Given the description of an element on the screen output the (x, y) to click on. 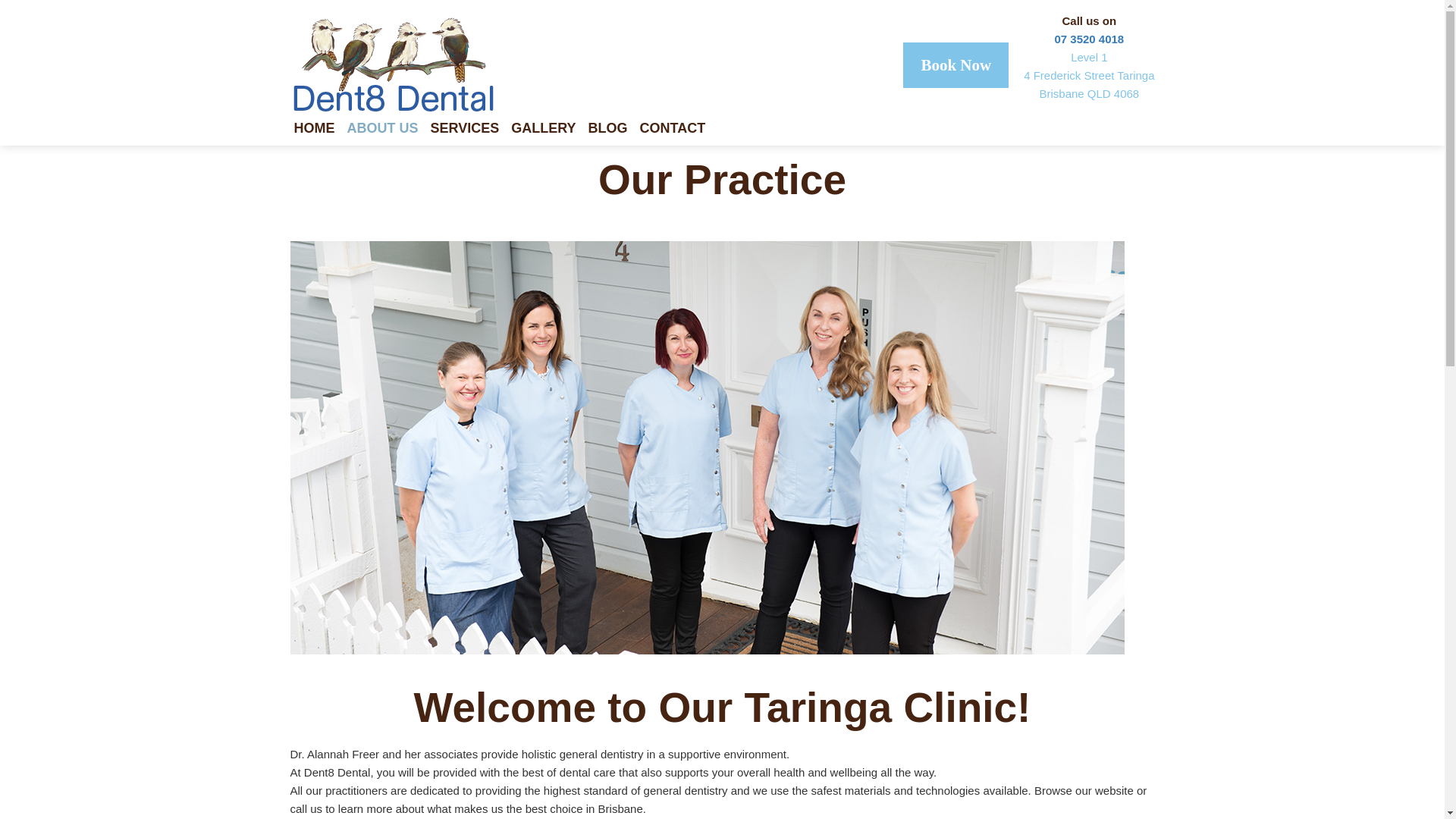
prac Element type: hover (706, 447)
SERVICES Element type: text (470, 130)
CONTACT Element type: text (679, 130)
GALLERY Element type: text (549, 130)
BLOG Element type: text (614, 130)
ABOUT US Element type: text (388, 130)
Book Now Element type: text (955, 64)
HOME Element type: text (320, 130)
07 3520 4018 Element type: text (1088, 38)
